Given the description of an element on the screen output the (x, y) to click on. 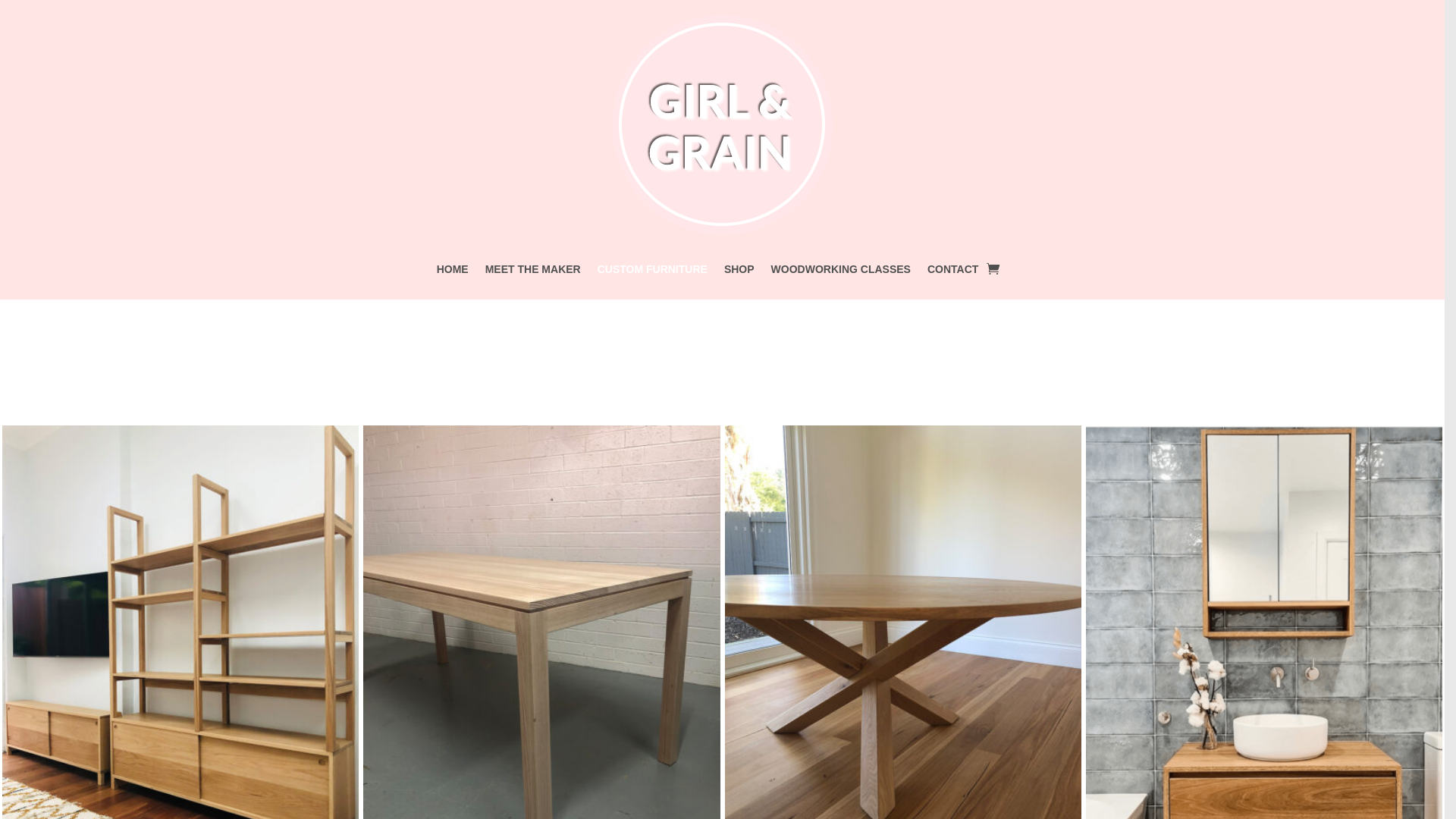
MEET THE MAKER Element type: text (532, 271)
HOME Element type: text (452, 271)
CONTACT Element type: text (952, 271)
WOODWORKING CLASSES Element type: text (840, 271)
SHOP Element type: text (739, 271)
CUSTOM FURNITURE Element type: text (652, 271)
